Given the description of an element on the screen output the (x, y) to click on. 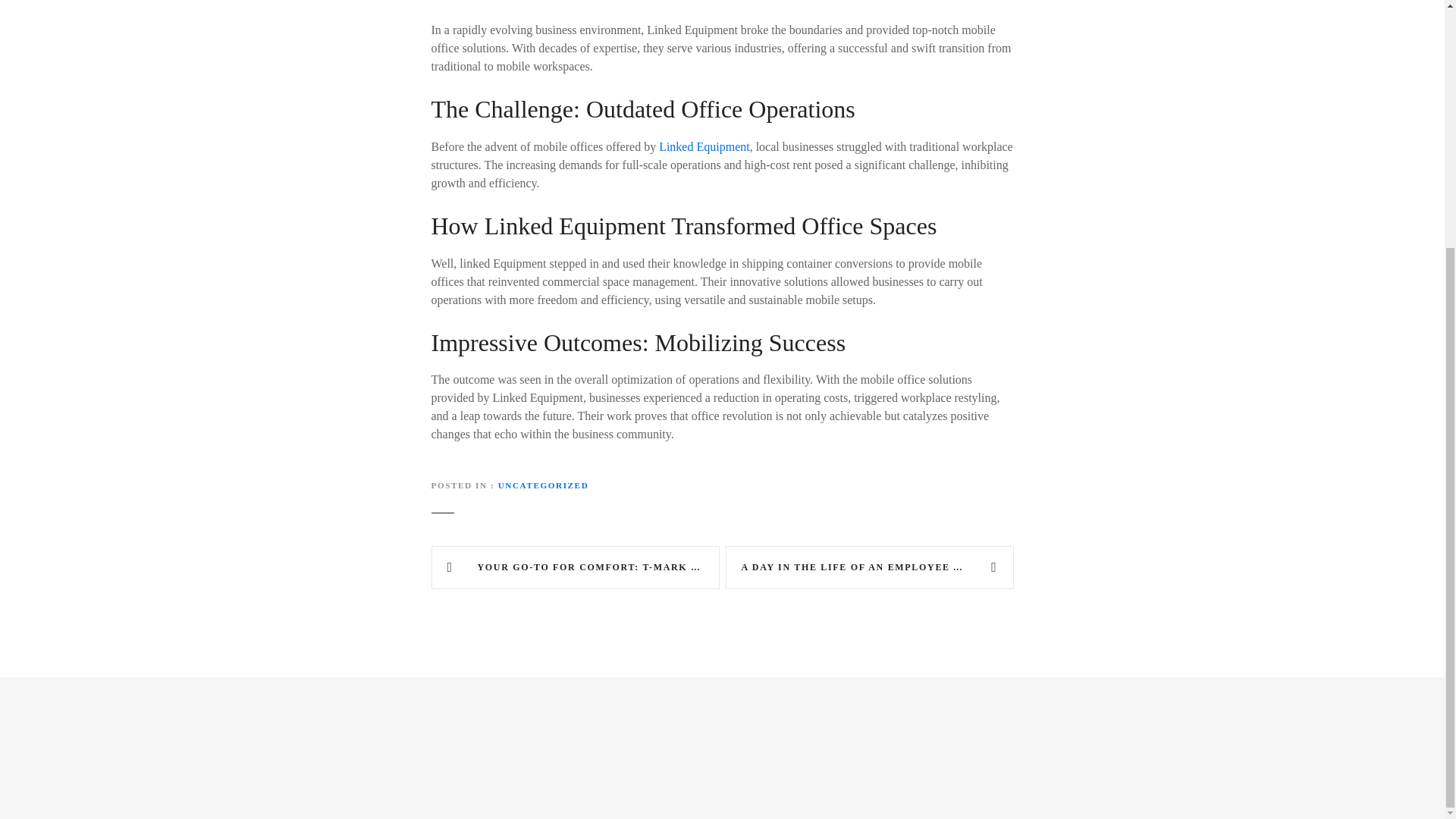
UNCATEGORIZED (543, 484)
Linked Equipment (704, 146)
